Given the description of an element on the screen output the (x, y) to click on. 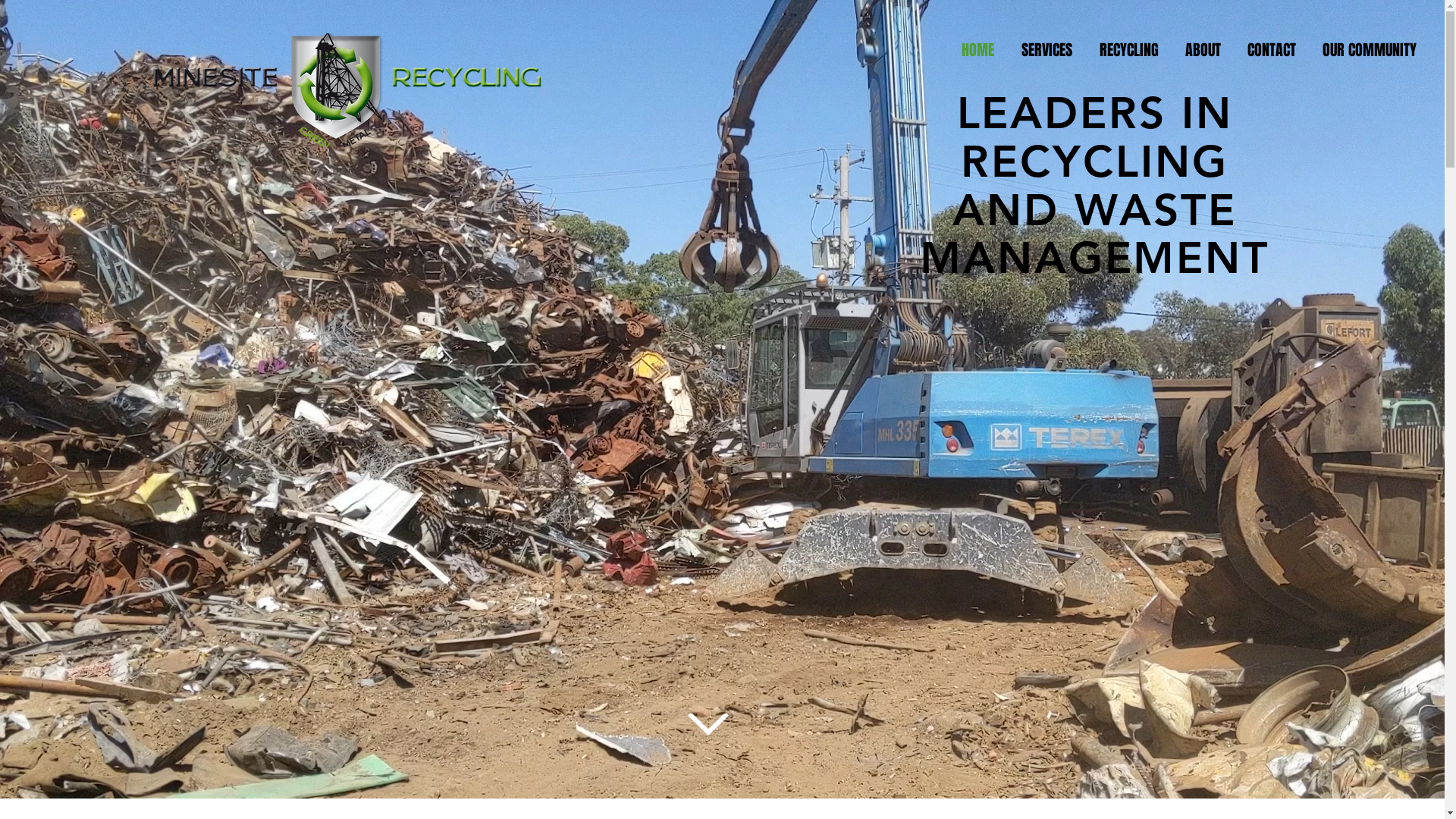
HOME Element type: text (977, 50)
RECYCLING Element type: text (1128, 50)
OUR COMMUNITY Element type: text (1368, 50)
SERVICES Element type: text (1046, 50)
CONTACT Element type: text (1270, 50)
ABOUT Element type: text (1202, 50)
